Given the description of an element on the screen output the (x, y) to click on. 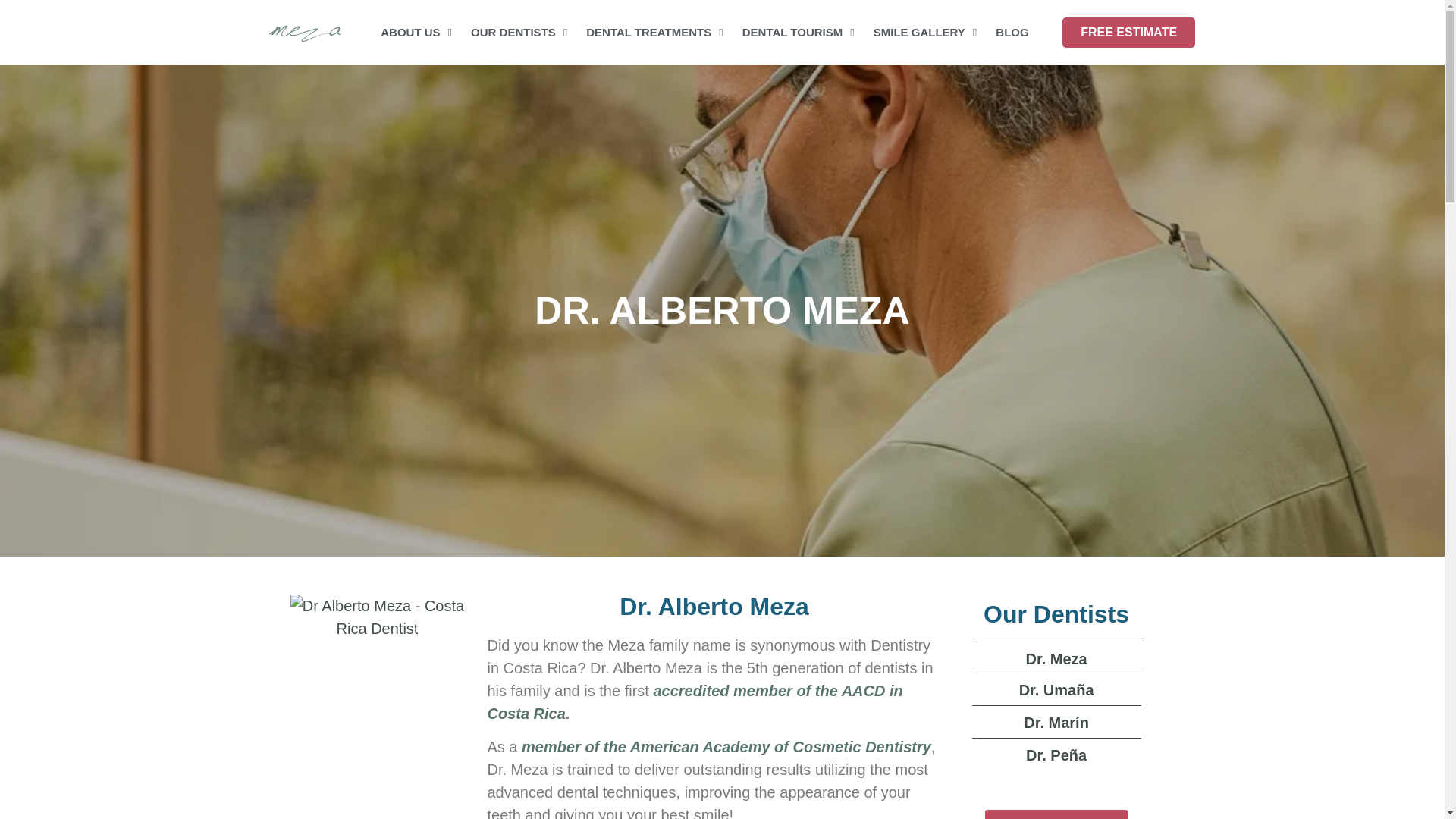
BLOG (1011, 32)
OUR DENTISTS (518, 32)
DENTAL TOURISM (797, 32)
ABOUT US (416, 32)
SMILE GALLERY (925, 32)
DENTAL TREATMENTS (654, 32)
